Given the description of an element on the screen output the (x, y) to click on. 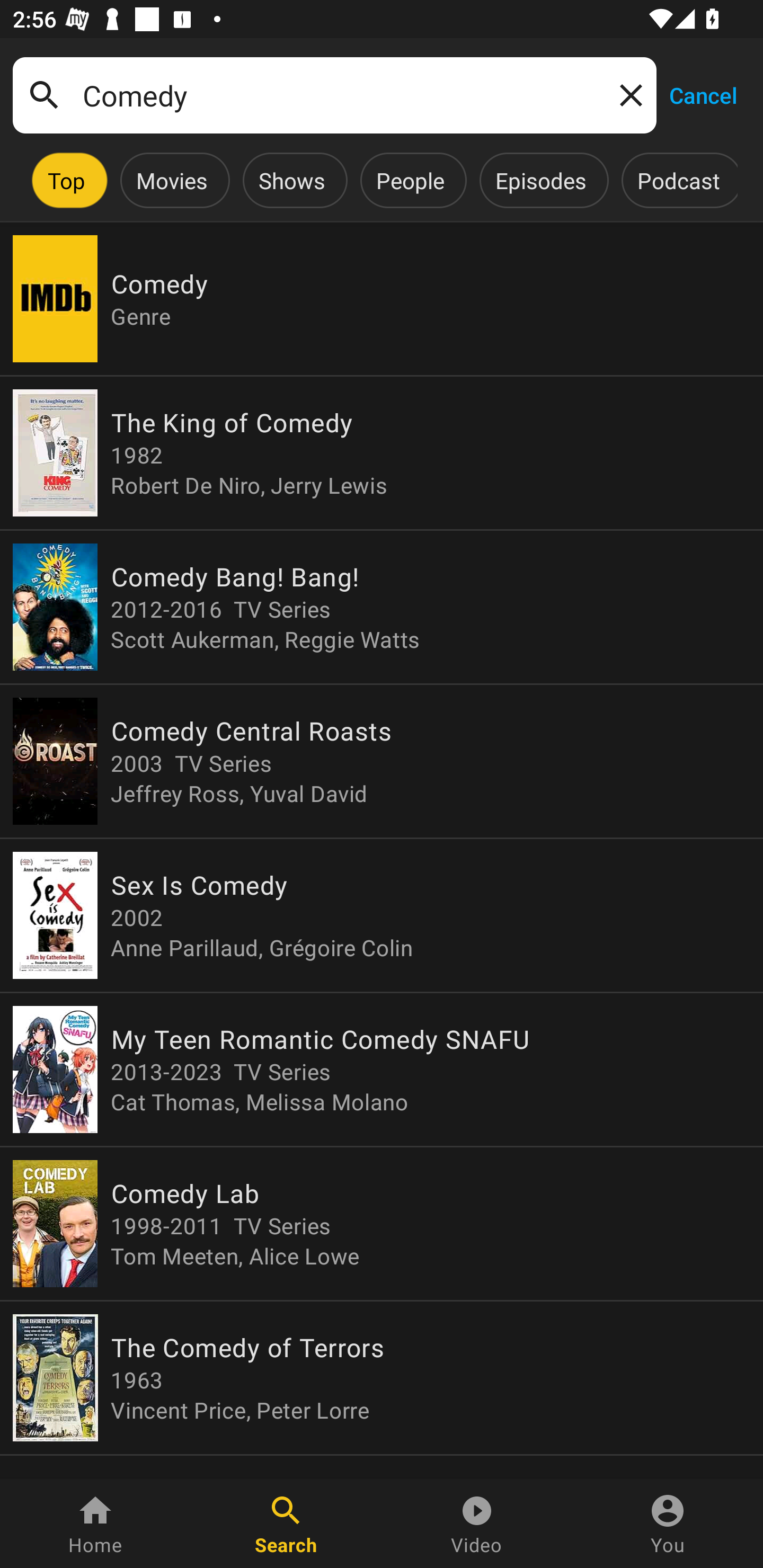
Clear query (627, 94)
Cancel (703, 94)
Comedy (334, 95)
Top (66, 180)
Movies (171, 180)
Shows (291, 180)
People (410, 180)
Episodes (540, 180)
Podcast (678, 180)
Comedy Genre (381, 298)
Sex Is Comedy 2002 Anne Parillaud, Grégoire Colin (381, 914)
Home (95, 1523)
Video (476, 1523)
You (667, 1523)
